Given the description of an element on the screen output the (x, y) to click on. 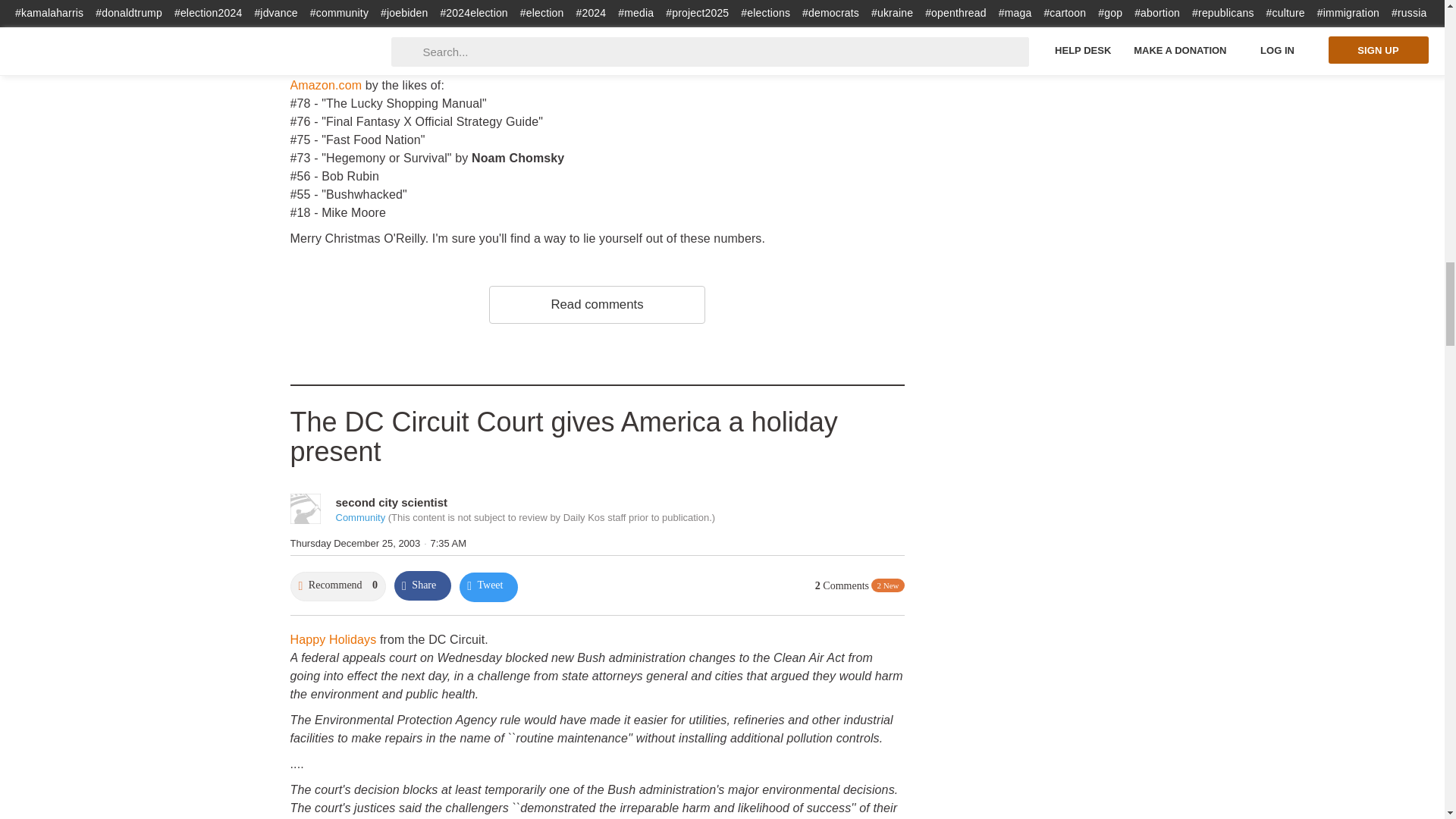
11 Comments 11 New (855, 14)
2 Comments 2 New (859, 585)
